Given the description of an element on the screen output the (x, y) to click on. 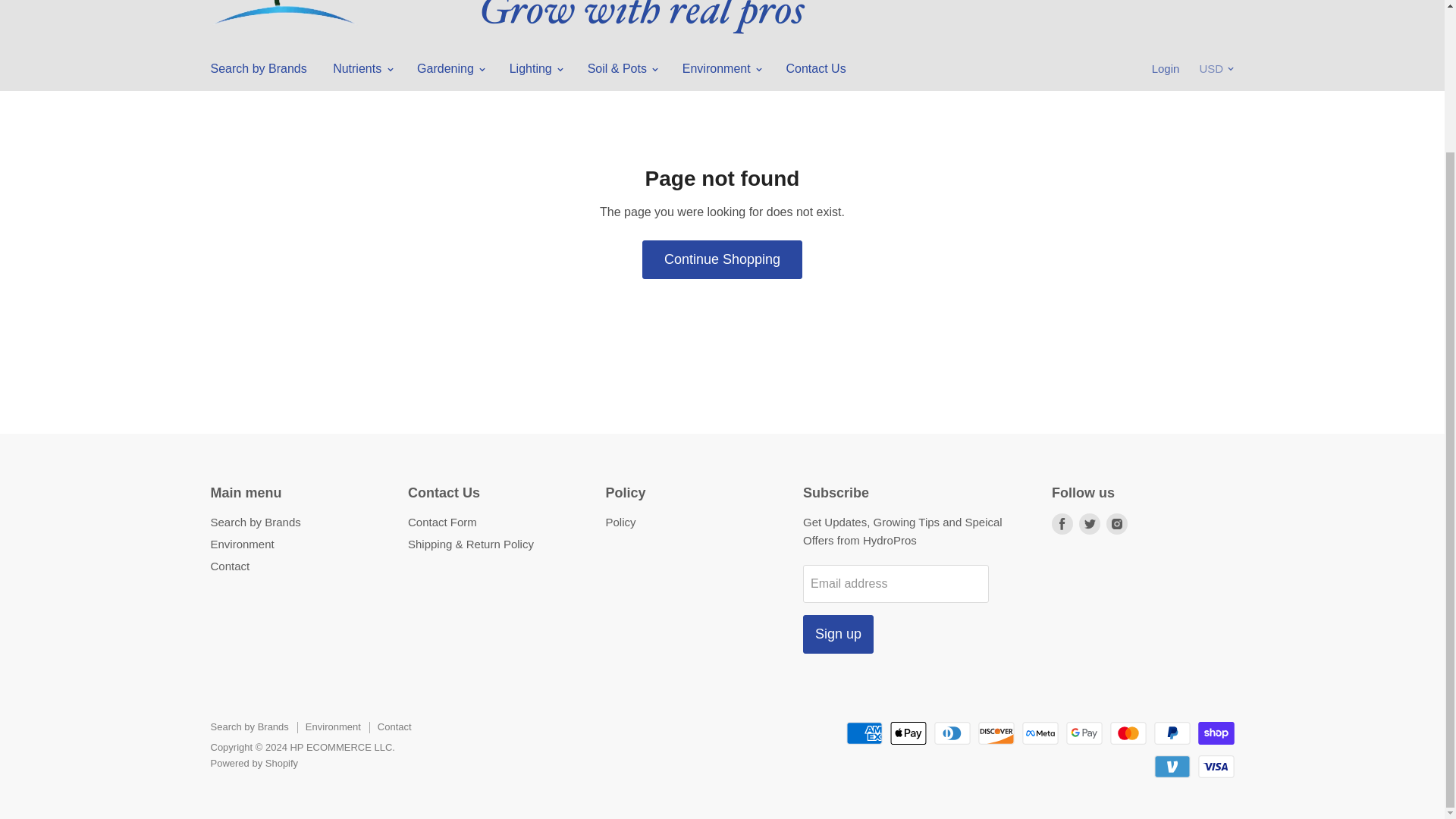
Discover (996, 732)
Meta Pay (1040, 732)
Search by Brands (257, 69)
American Express (863, 732)
Login (1165, 69)
Shop Pay (1216, 732)
Environment (721, 69)
Diners Club (952, 732)
PayPal (1172, 732)
Apple Pay (907, 732)
Nutrients (361, 69)
Twitter (1089, 523)
Instagram (1117, 523)
Lighting (535, 69)
Contact Us (815, 69)
